Given the description of an element on the screen output the (x, y) to click on. 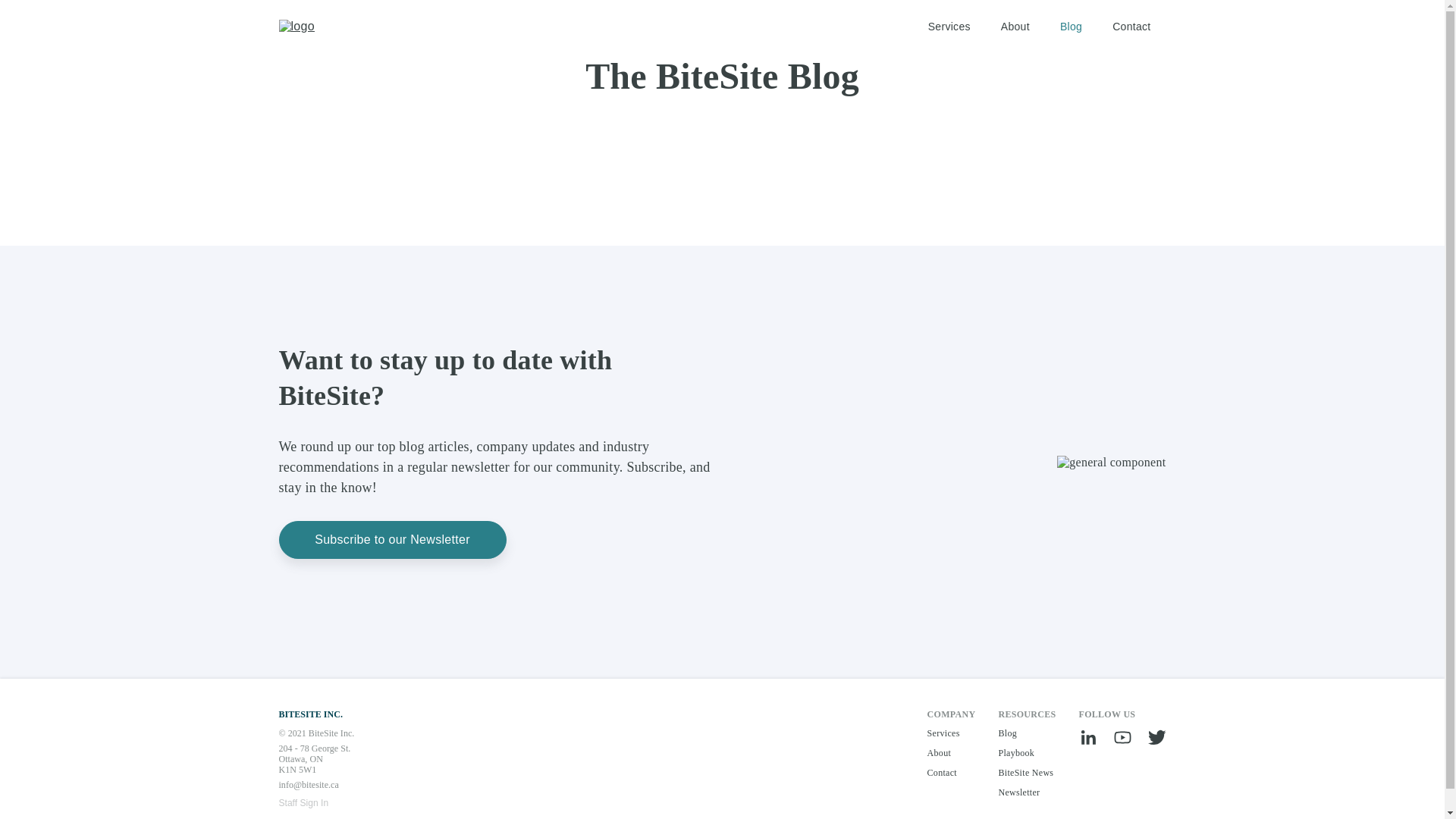
Blog Element type: text (1071, 26)
BiteSite News Element type: text (1026, 772)
Contact Element type: text (951, 772)
Services Element type: text (951, 732)
Playbook Element type: text (1026, 752)
Staff Sign In Element type: text (304, 802)
Services Element type: text (949, 26)
About Element type: text (1015, 26)
Subscribe to our Newsletter Element type: text (392, 539)
Blog Element type: text (1026, 732)
Newsletter Element type: text (1026, 792)
Contact Element type: text (1131, 26)
About Element type: text (951, 752)
